Given the description of an element on the screen output the (x, y) to click on. 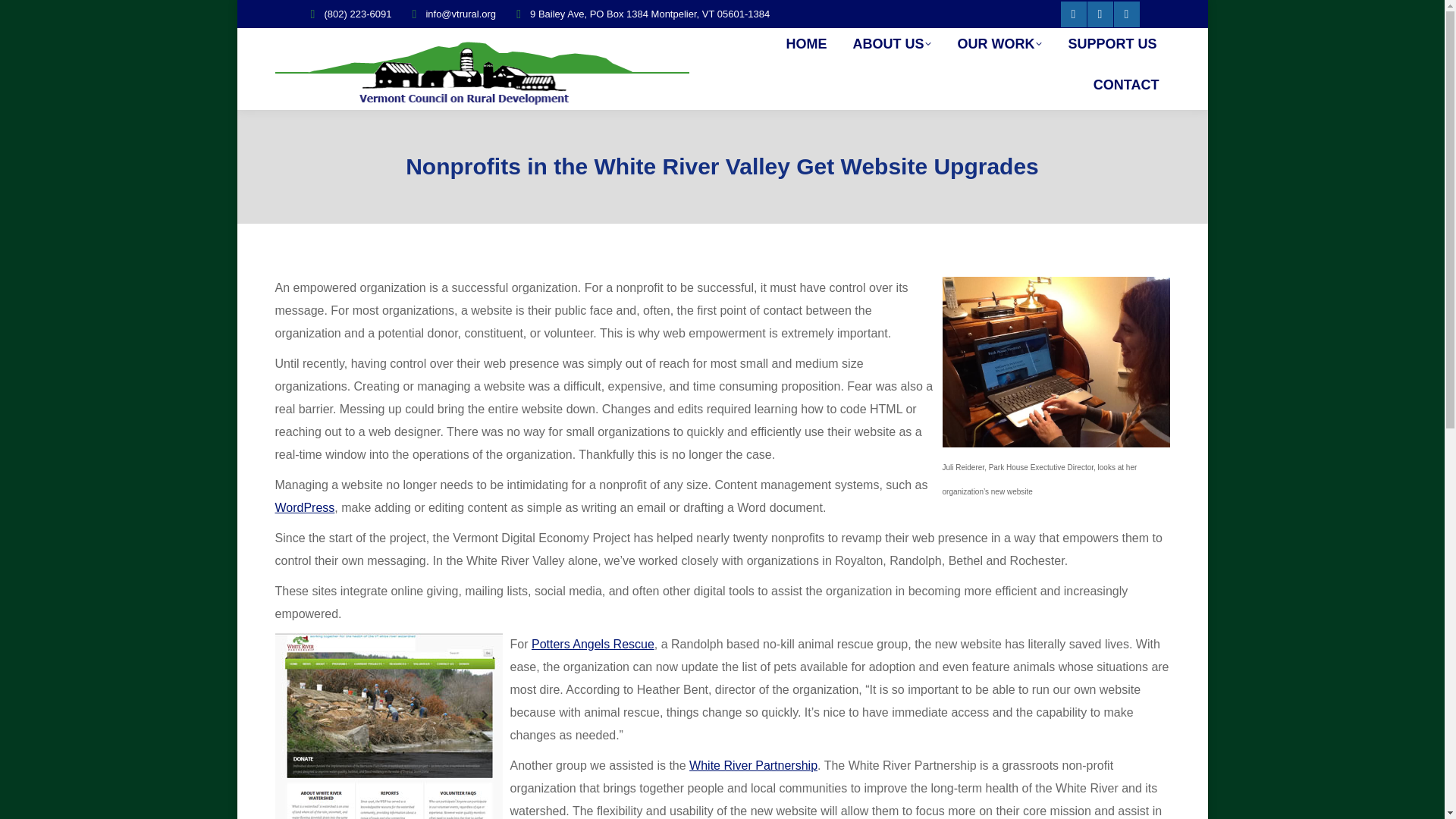
Facebook page opens in new window (1072, 14)
SUPPORT US (1112, 43)
X page opens in new window (1100, 14)
Facebook page opens in new window (1072, 14)
YouTube page opens in new window (1125, 14)
OUR WORK (999, 43)
X page opens in new window (1100, 14)
HOME (805, 43)
CONTACT (1126, 84)
ABOUT US (891, 43)
YouTube page opens in new window (1125, 14)
